Given the description of an element on the screen output the (x, y) to click on. 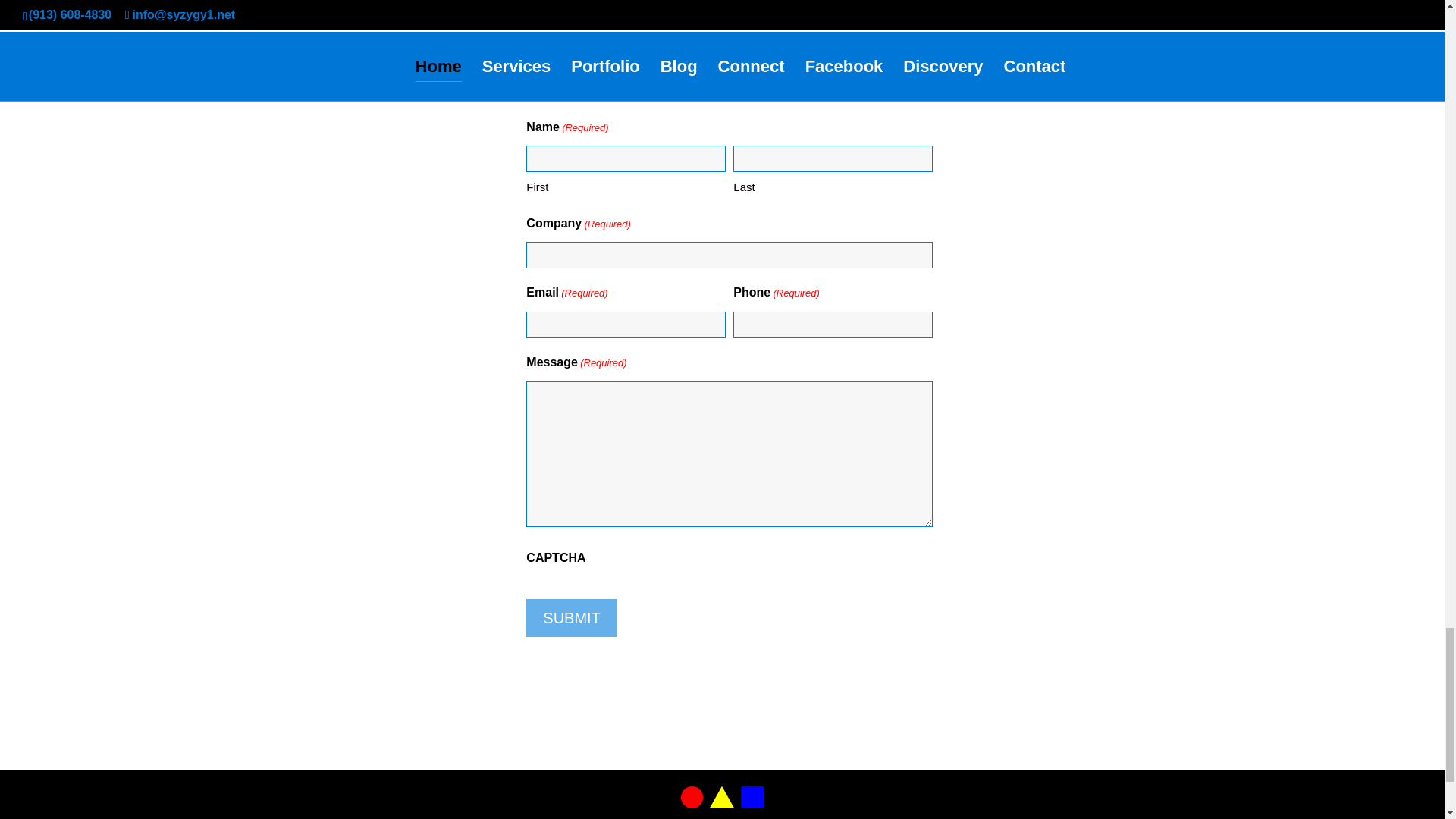
Submit (571, 617)
Submit (571, 617)
